Given the description of an element on the screen output the (x, y) to click on. 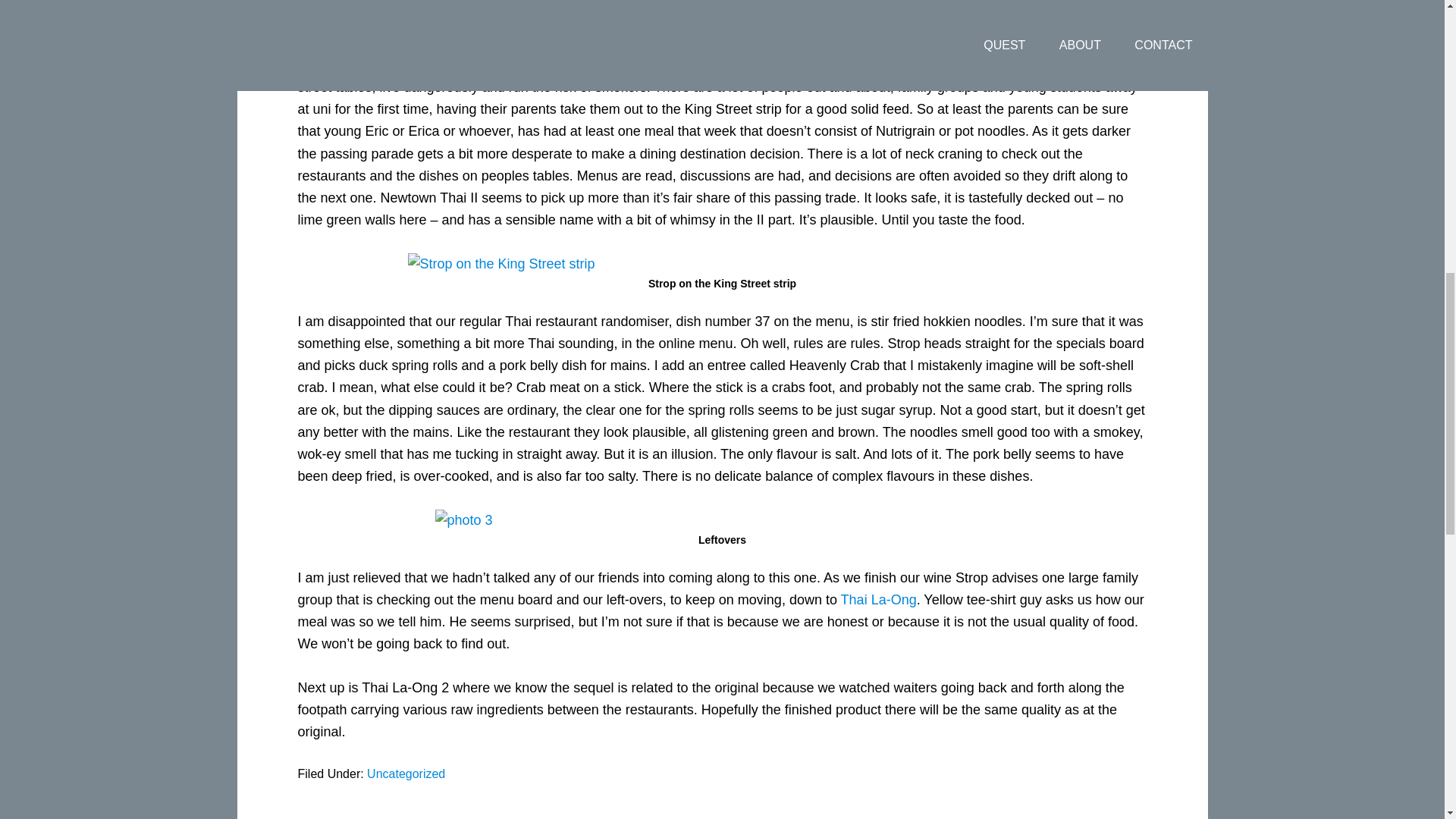
Thai La-Ong (879, 599)
Uncategorized (405, 773)
